Given the description of an element on the screen output the (x, y) to click on. 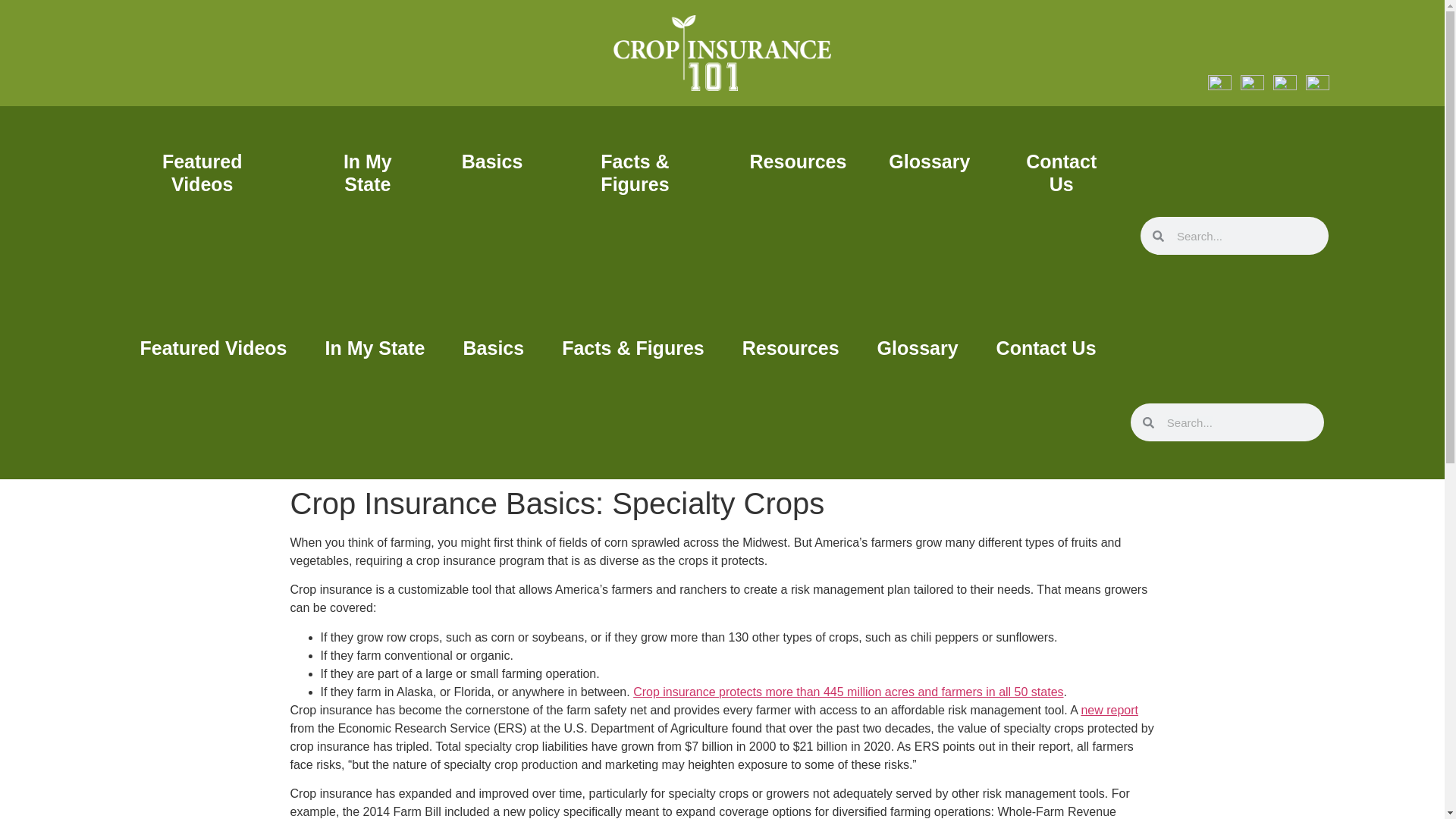
Featured Videos (212, 347)
In My State (367, 172)
Resources (798, 160)
Glossary (917, 347)
Glossary (928, 160)
In My State (374, 347)
Contact Us (1061, 172)
Featured Videos (202, 172)
Basics (493, 347)
Resources (791, 347)
Basics (491, 160)
